Given the description of an element on the screen output the (x, y) to click on. 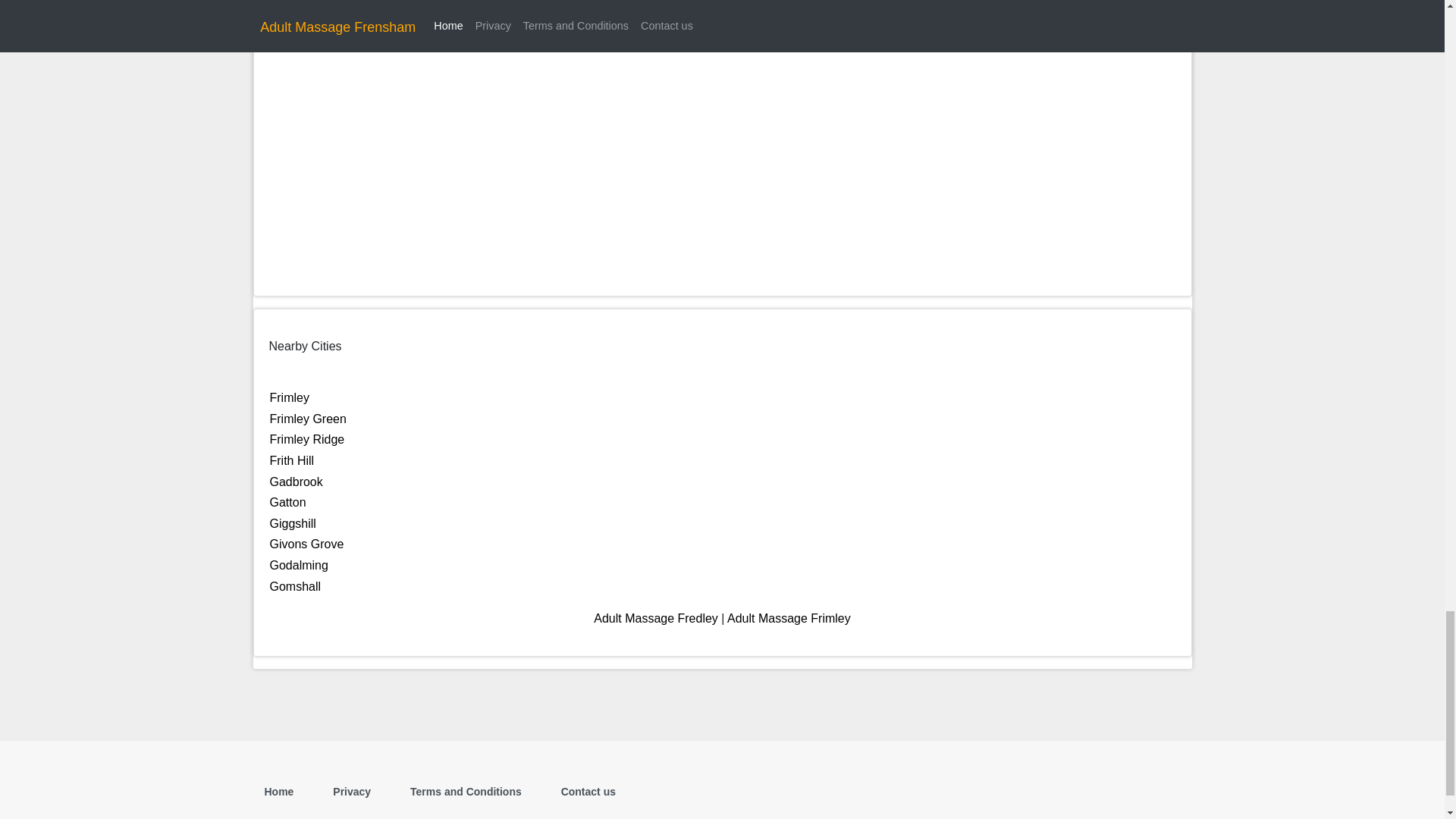
Frimley Ridge (307, 439)
Frimley Green (307, 418)
Adult Massage Frimley (788, 617)
Gadbrook (296, 481)
Godalming (299, 564)
Giggshill (292, 522)
Gatton (287, 502)
Adult Massage Fredley (655, 617)
Givons Grove (306, 543)
Gomshall (295, 585)
Frimley (288, 397)
Frith Hill (291, 460)
